Given the description of an element on the screen output the (x, y) to click on. 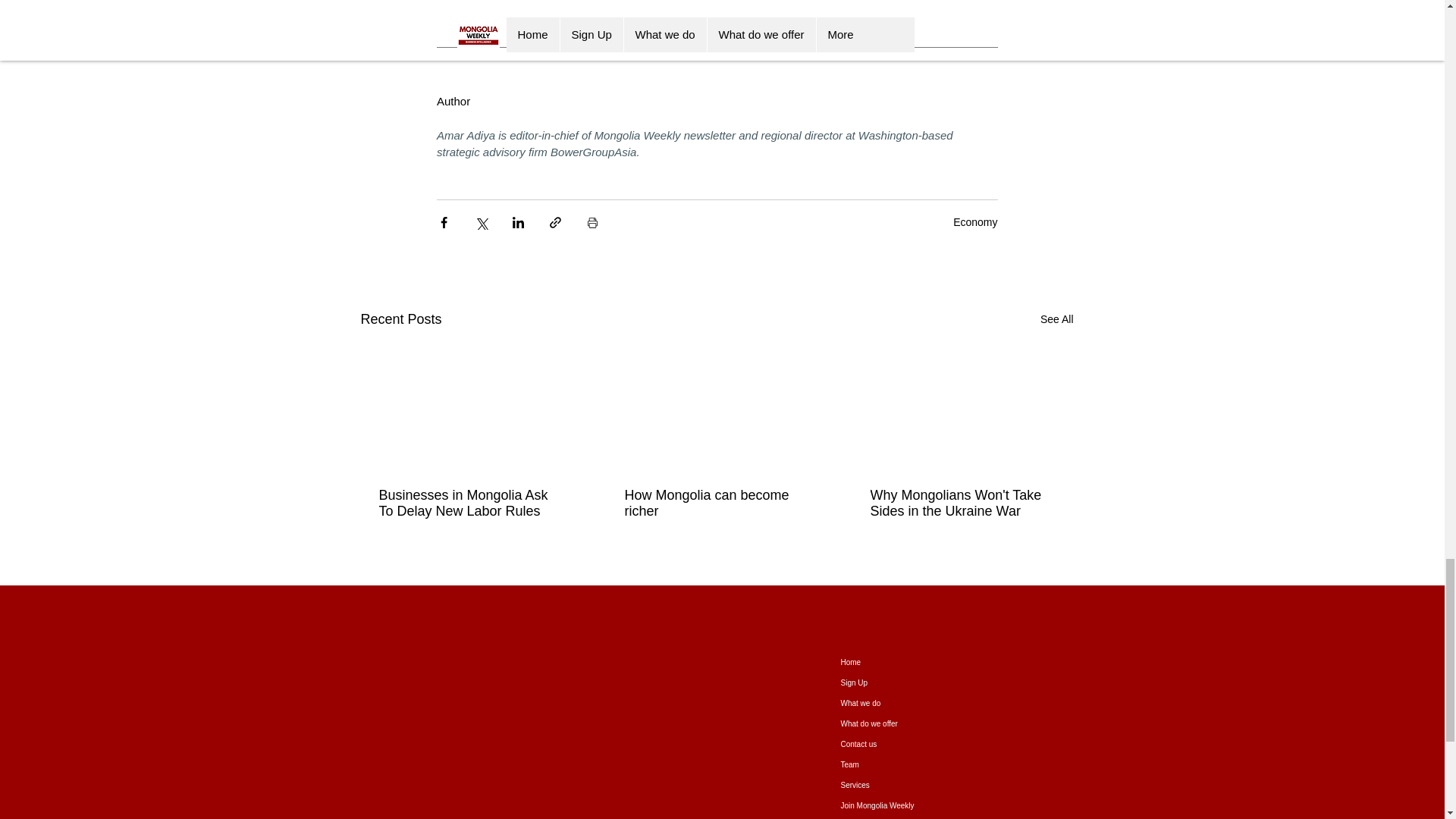
Businesses in Mongolia Ask To Delay New Labor Rules (470, 503)
What we do (898, 702)
Economy (975, 222)
What do we offer (898, 723)
Contact us (898, 743)
Sign Up (898, 682)
How Mongolia can become richer (716, 503)
Team (898, 764)
Why Mongolians Won't Take Sides in the Ukraine War (962, 503)
See All (1057, 319)
Home (898, 661)
